Given the description of an element on the screen output the (x, y) to click on. 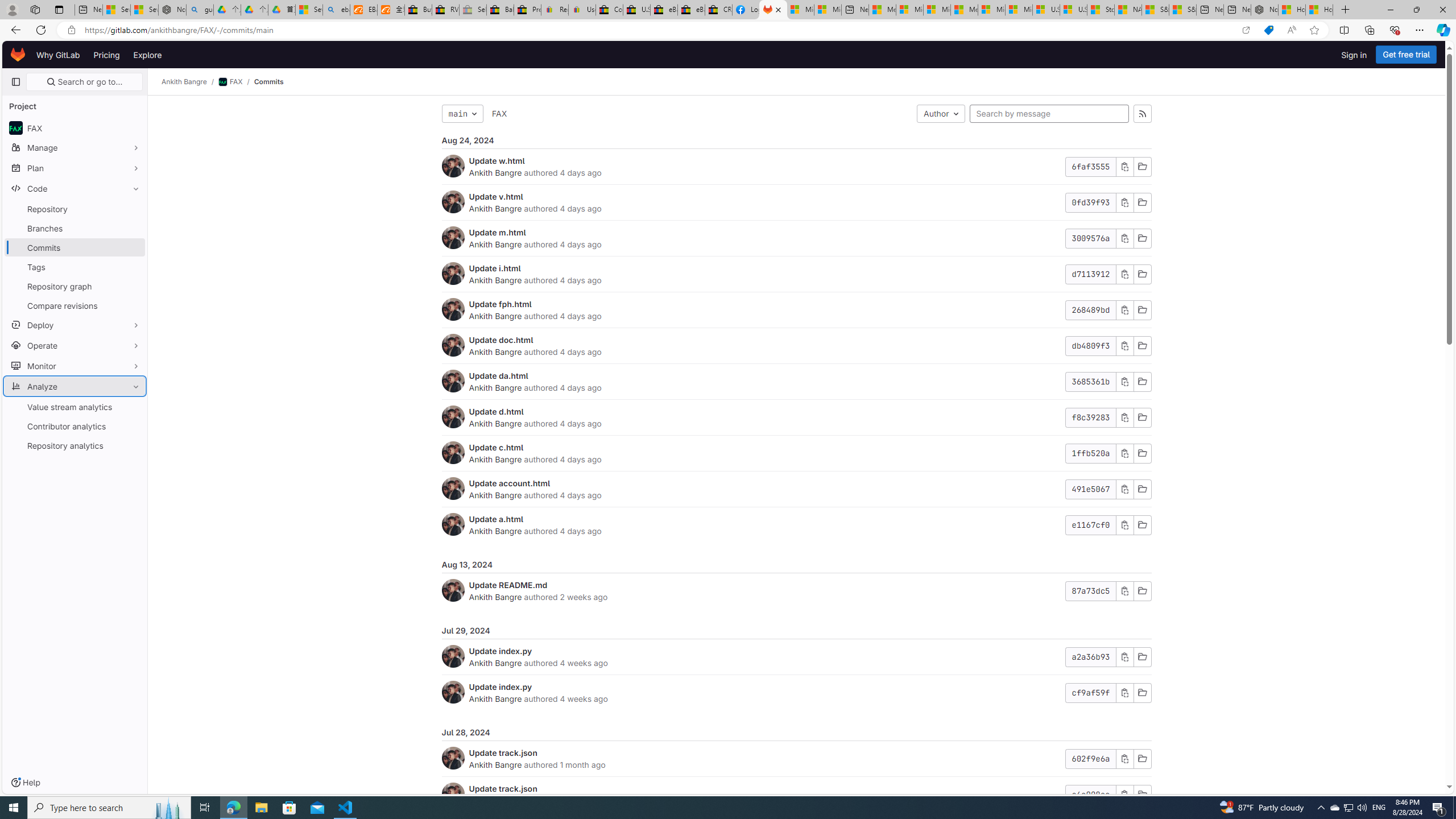
Operate (74, 344)
Update v.html (495, 196)
Explore (146, 54)
Press Room - eBay Inc. (527, 9)
Update doc.htmlAnkith Bangre authored 4 days agodb4809f3 (796, 345)
Update account.html (509, 483)
main (462, 113)
U.S. State Privacy Disclosures - eBay Inc. (636, 9)
Commits (268, 81)
Update track.json (502, 788)
Homepage (17, 54)
